Given the description of an element on the screen output the (x, y) to click on. 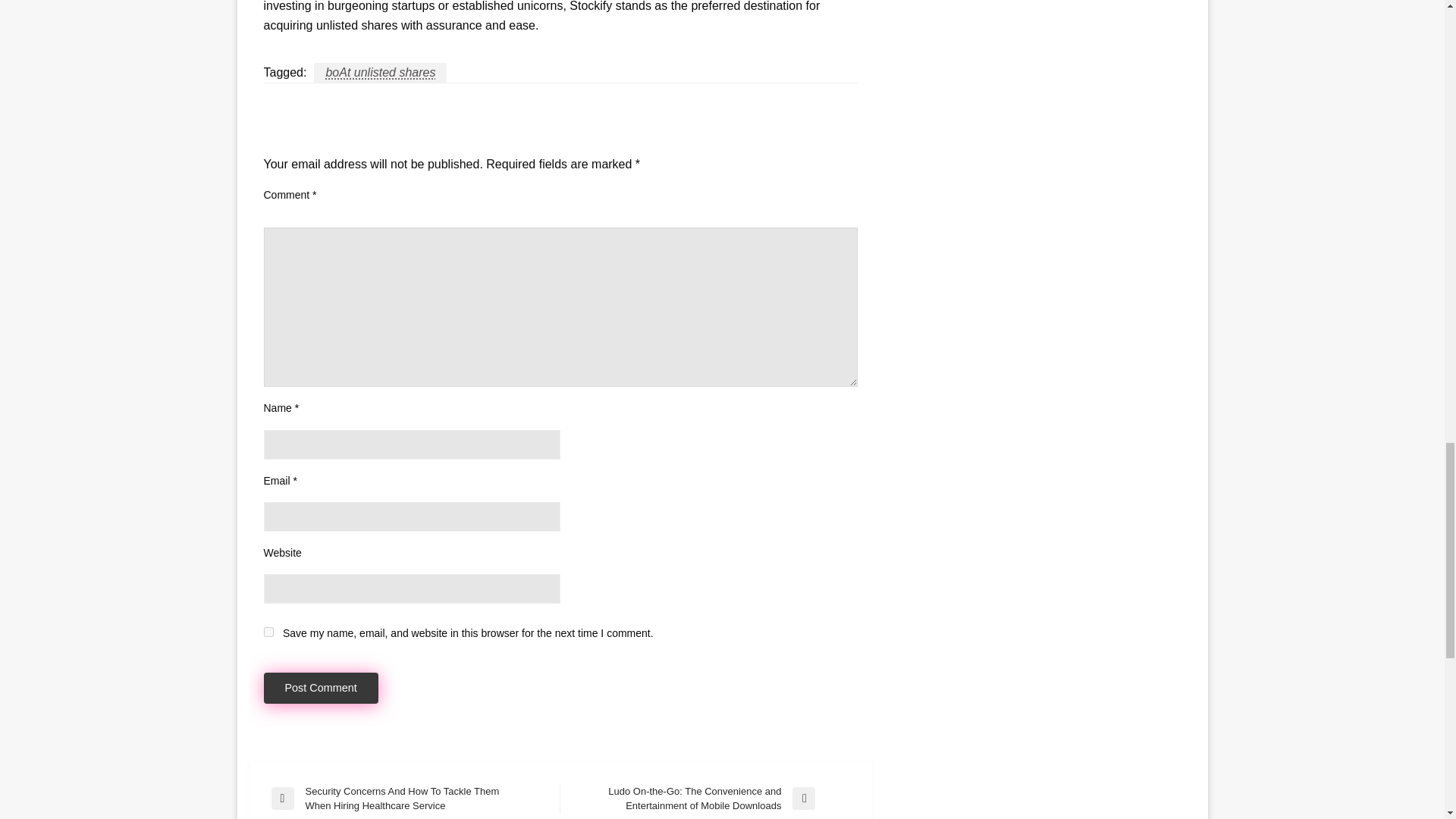
Post Comment (320, 687)
yes (268, 632)
boAt unlisted shares (380, 72)
Post Comment (320, 687)
